Given the description of an element on the screen output the (x, y) to click on. 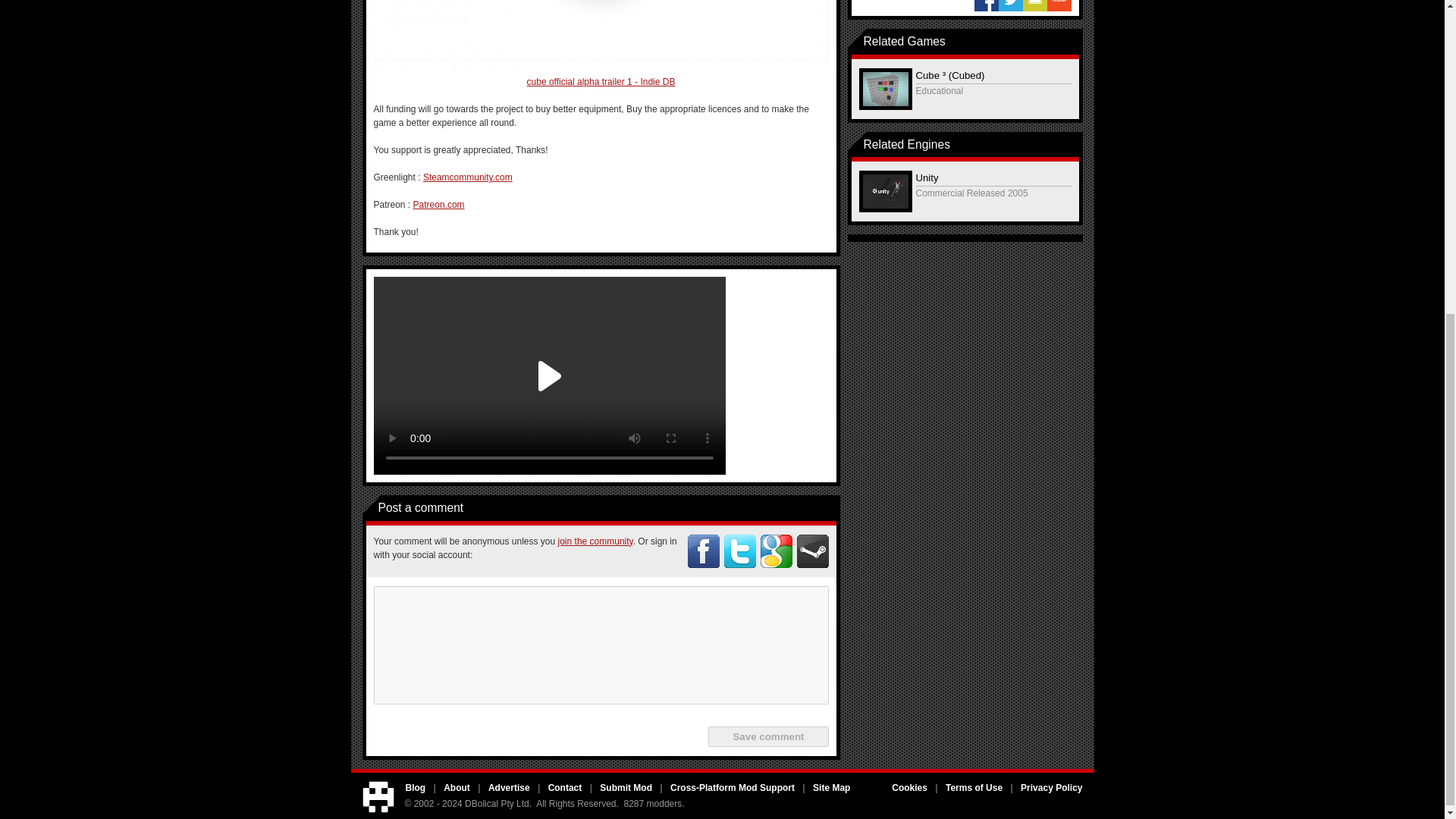
Click to connect via Twitter (739, 551)
Click to connect via Steam (812, 551)
Click to connect via Google (776, 551)
Save comment (767, 736)
